Given the description of an element on the screen output the (x, y) to click on. 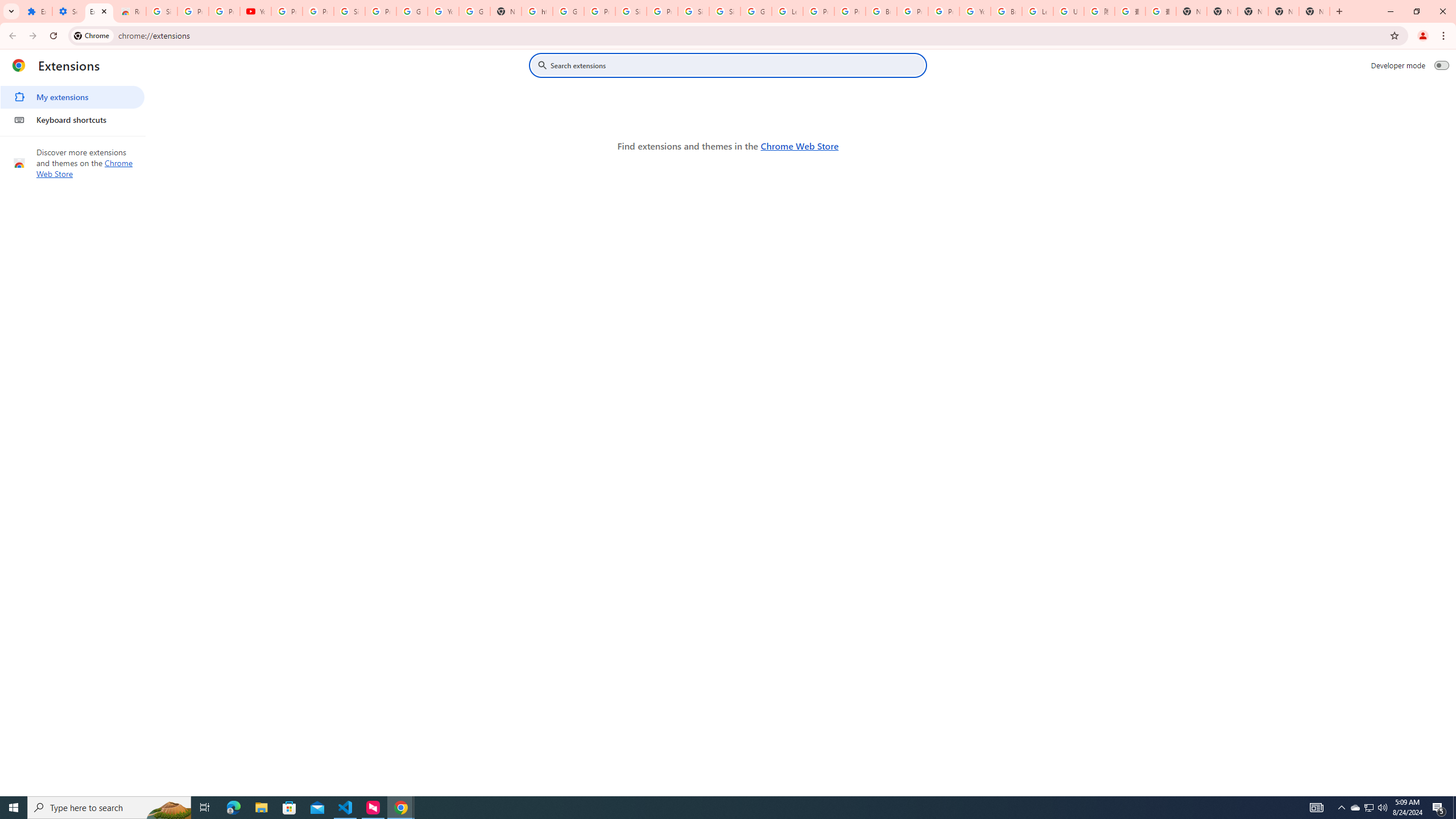
Sign in - Google Accounts (631, 11)
Extensions (36, 11)
Keyboard shortcuts (72, 119)
Settings (67, 11)
Sign in - Google Accounts (349, 11)
Google Account (411, 11)
Developer mode (1442, 64)
